Given the description of an element on the screen output the (x, y) to click on. 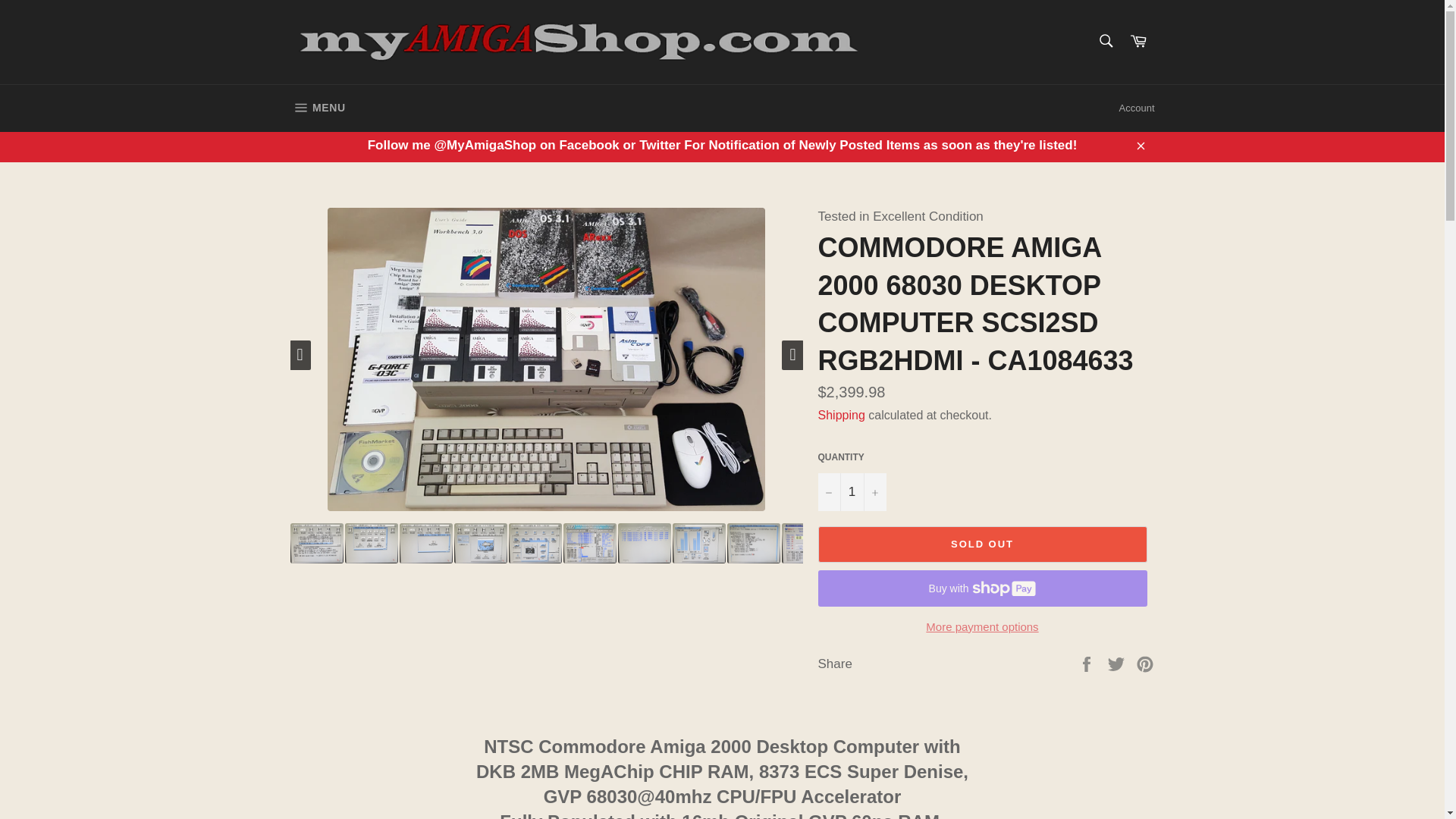
Share on Facebook (1088, 663)
Cart (1138, 41)
Search (1104, 40)
1 (850, 491)
Tweet on Twitter (317, 108)
Pin on Pinterest (1117, 663)
